Given the description of an element on the screen output the (x, y) to click on. 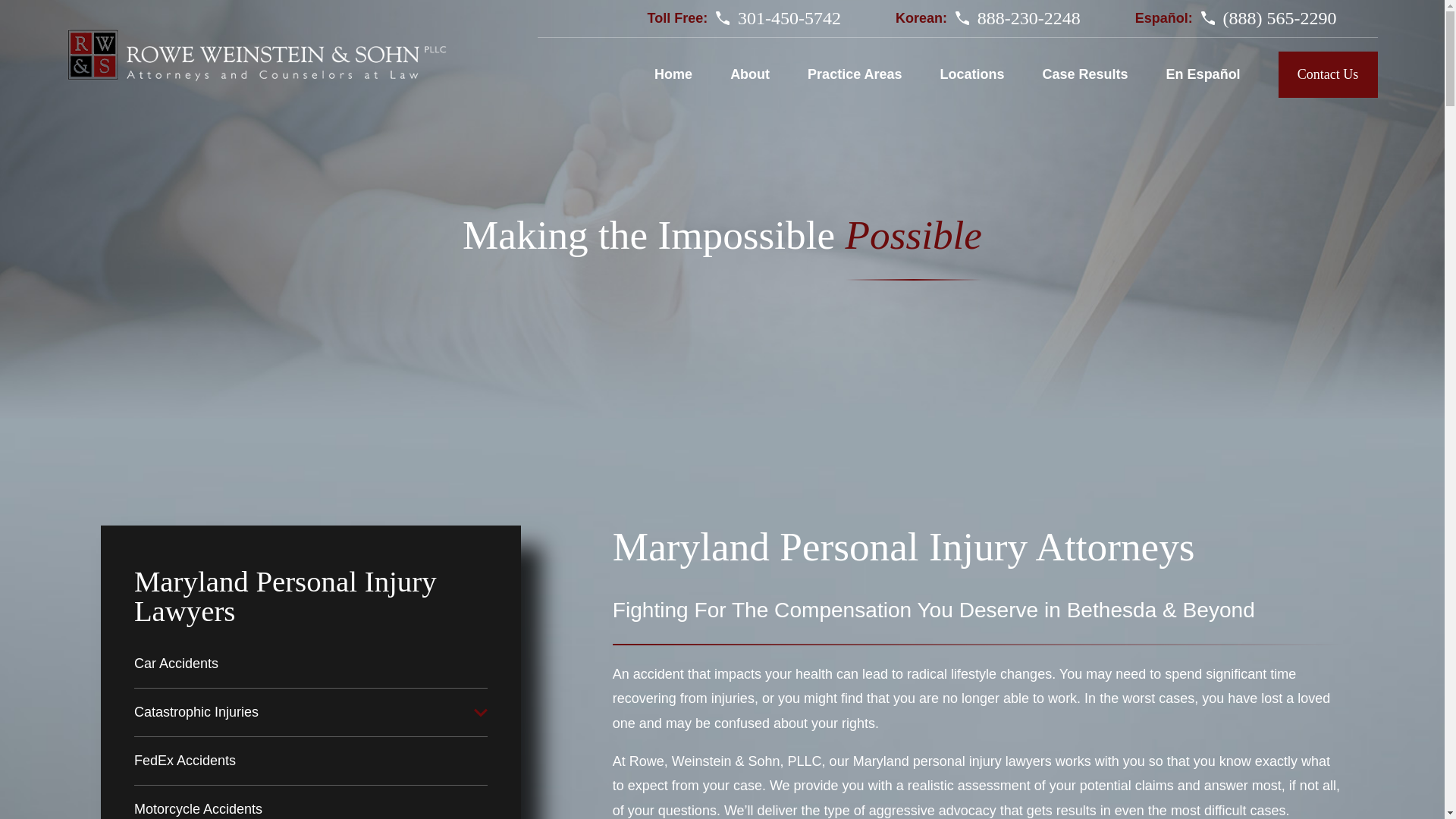
Case Results (1085, 74)
Open child menu of Catastrophic Injuries (480, 712)
Home (255, 55)
301-450-5742 (789, 18)
888-230-2248 (1028, 18)
Practice Areas (854, 74)
Locations (972, 74)
